Given the description of an element on the screen output the (x, y) to click on. 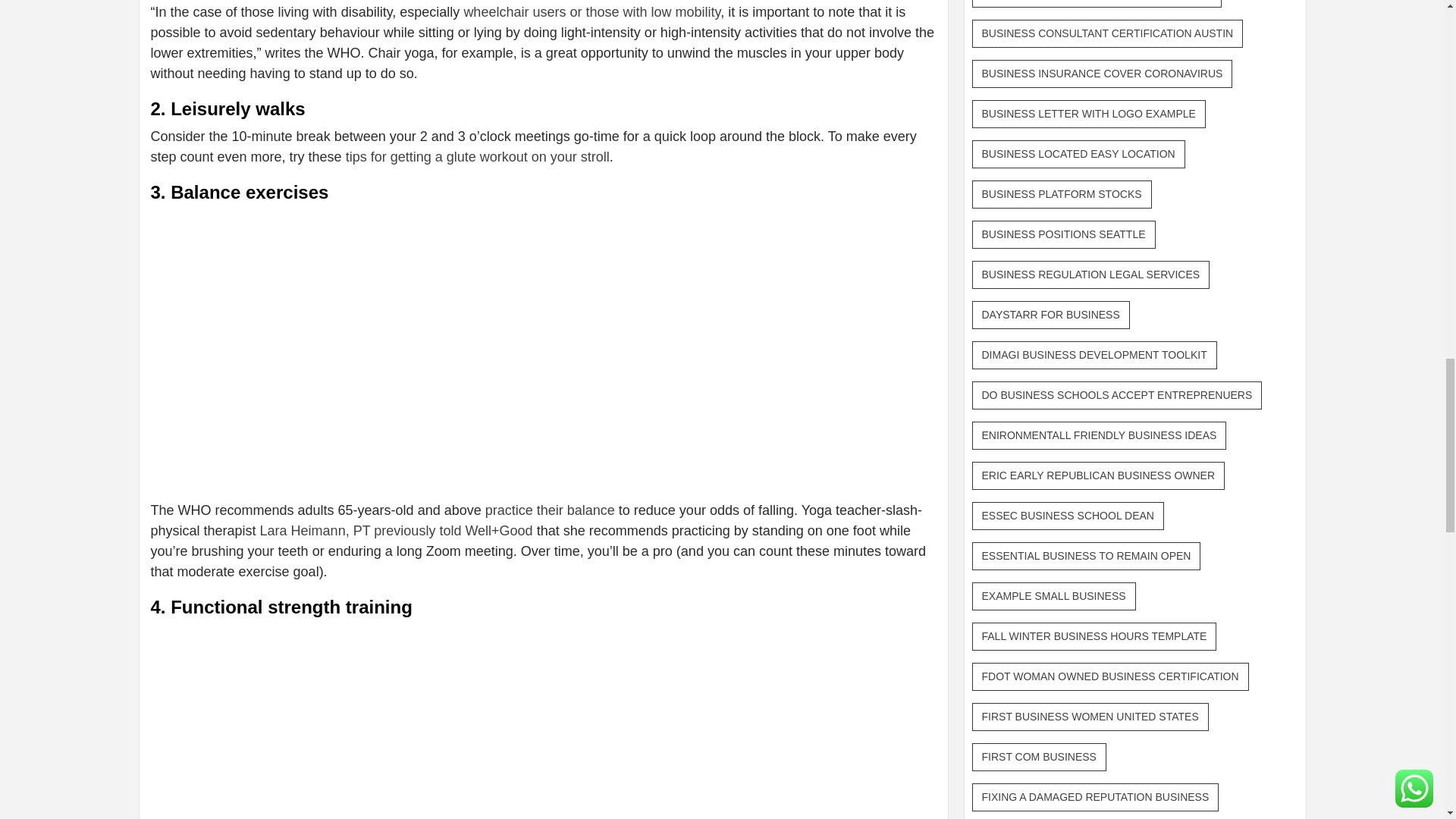
practice their balance (549, 509)
Lara Heimann, PT (315, 530)
A 5-minute full-body strength workout from Charlee Atkins (391, 722)
wheelchair users or those with low mobility (591, 11)
tips for getting a glute workout on your stroll (478, 156)
